Given the description of an element on the screen output the (x, y) to click on. 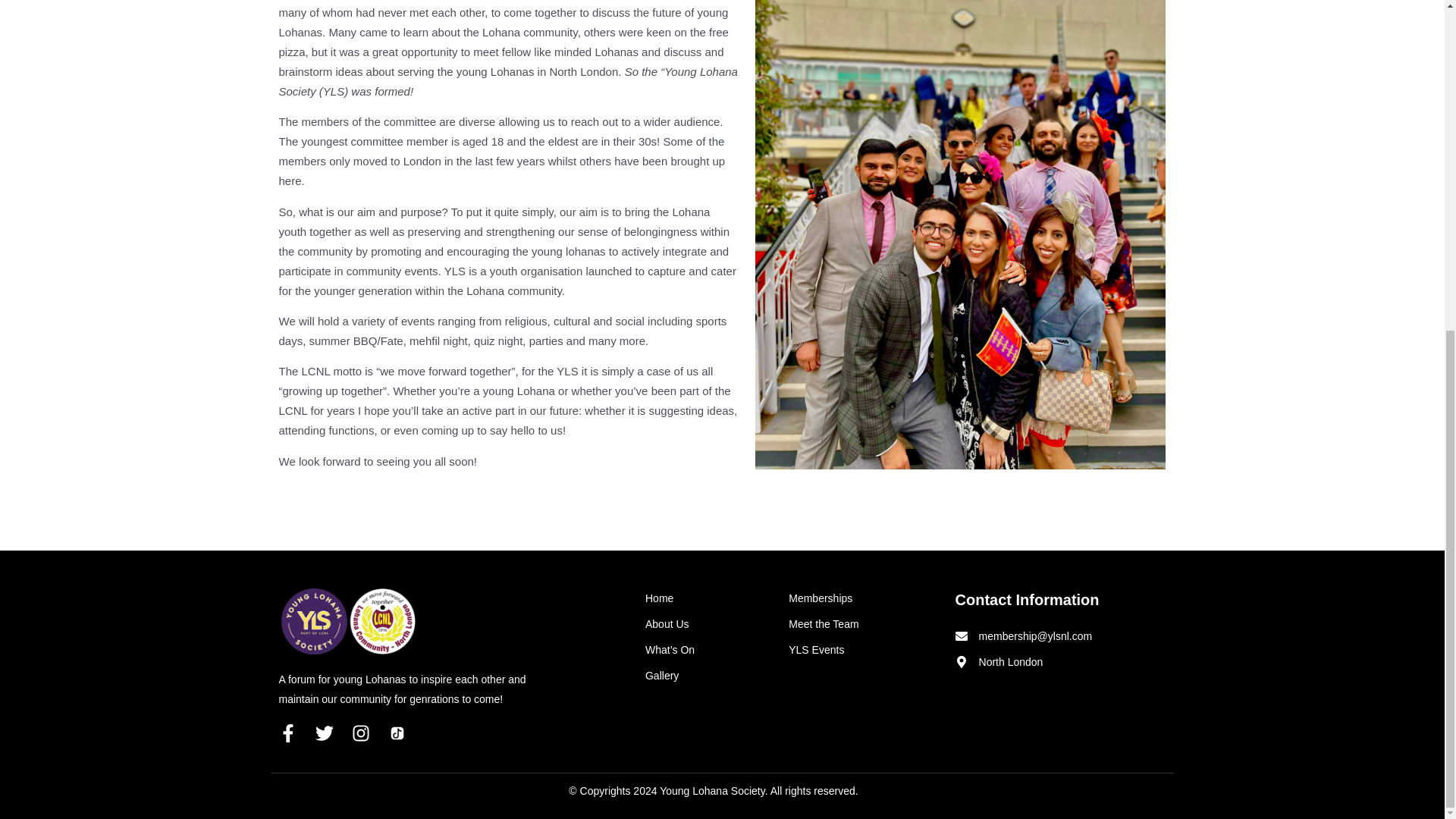
About Us (709, 623)
Memberships (864, 598)
Gallery (709, 675)
Home (709, 598)
Meet the Team (864, 623)
YLS Events (864, 649)
